Given the description of an element on the screen output the (x, y) to click on. 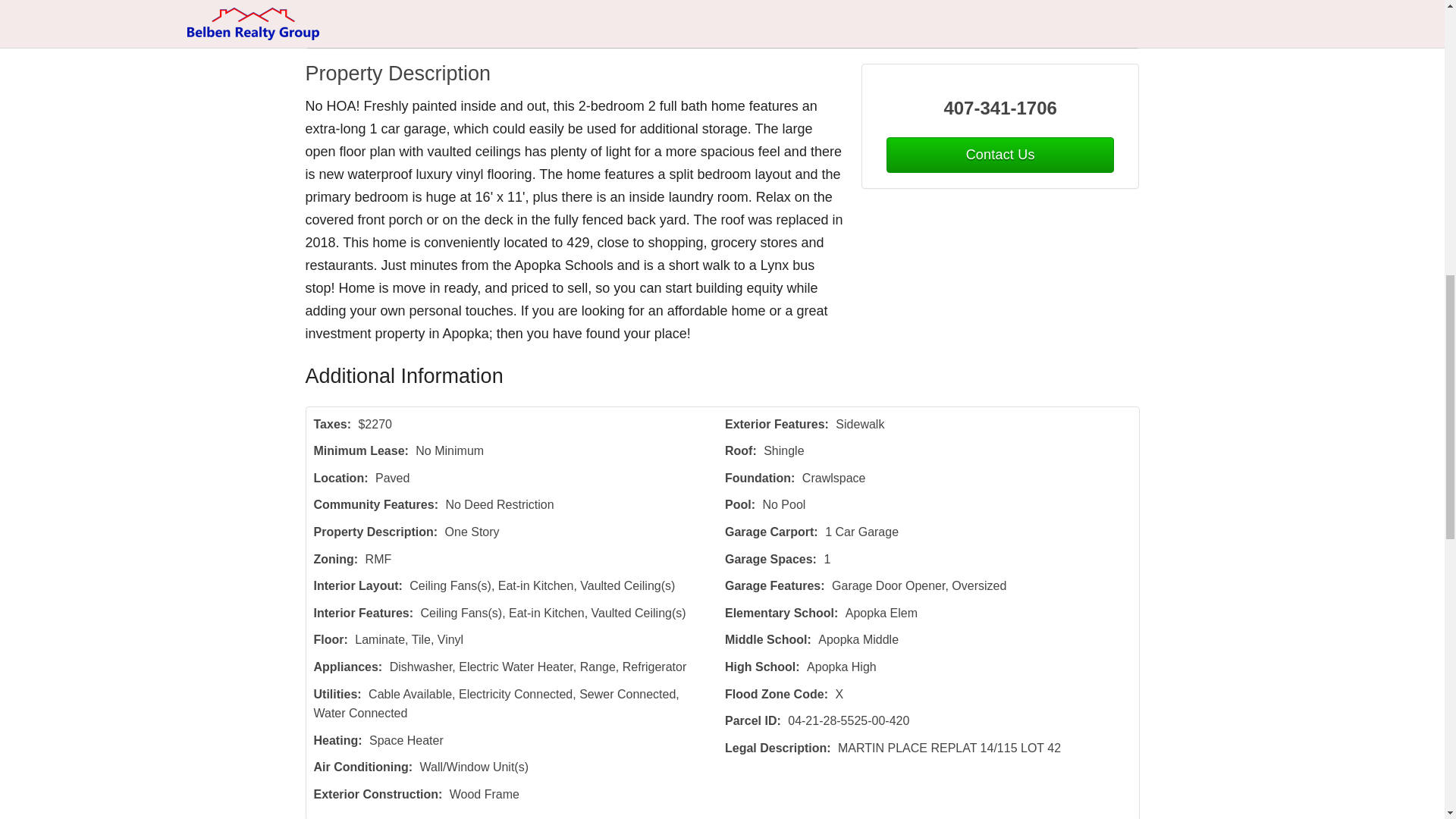
View on Map (507, 29)
Share (583, 29)
Call Us (427, 29)
Contact Us (354, 29)
New Search (1094, 29)
Contact Us (999, 154)
407-341-1706 (1000, 108)
